Given the description of an element on the screen output the (x, y) to click on. 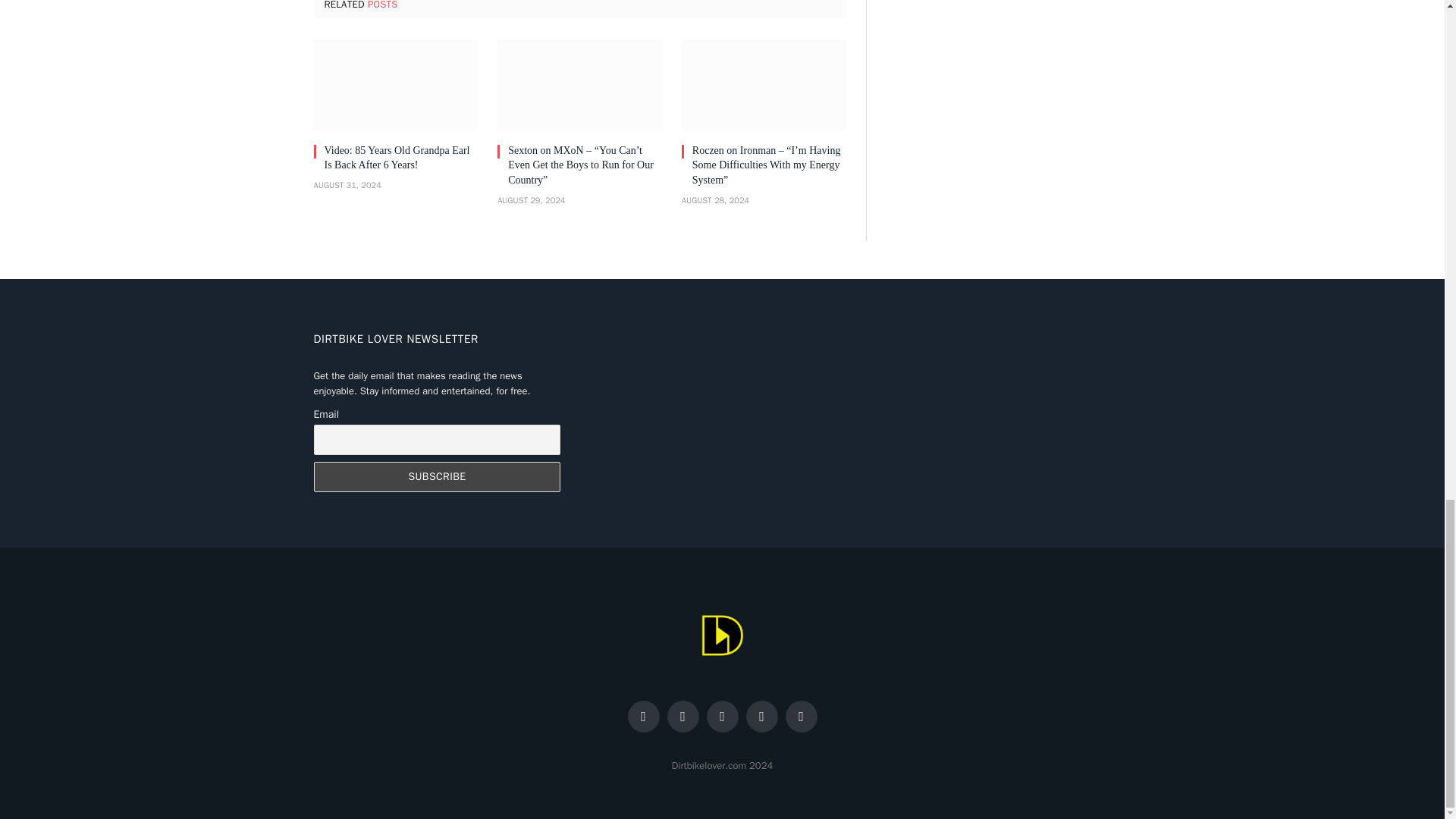
Instagram (722, 716)
Video: 85 Years Old Grandpa Earl Is Back After 6 Years! (396, 85)
Video: 85 Years Old Grandpa Earl Is Back After 6 Years! (401, 157)
Subscribe (437, 476)
Facebook (643, 716)
Pinterest (801, 716)
Subscribe (437, 476)
YouTube (761, 716)
